Given the description of an element on the screen output the (x, y) to click on. 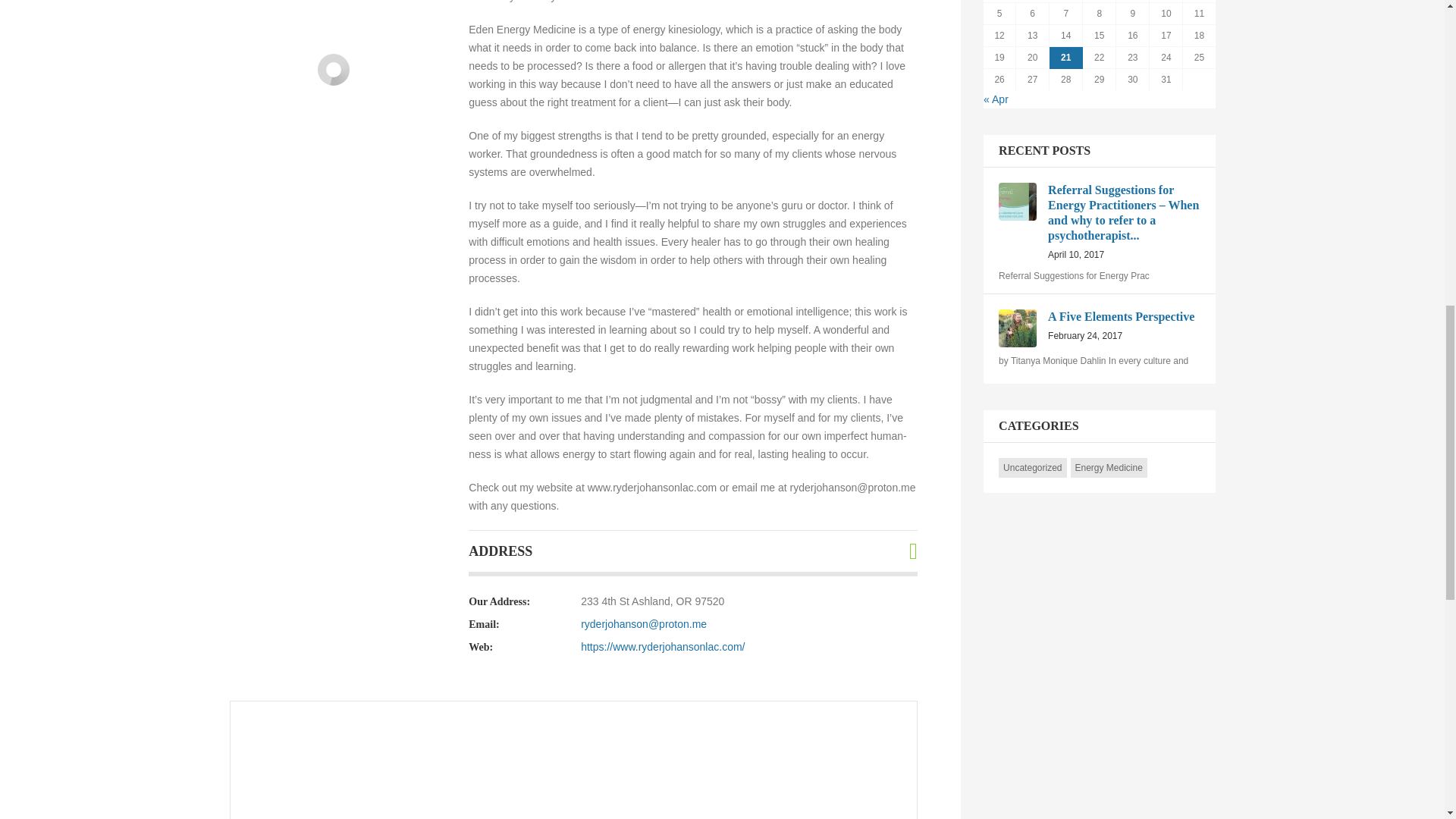
Energy Medicine (1098, 326)
Uncategorized (1108, 467)
